Given the description of an element on the screen output the (x, y) to click on. 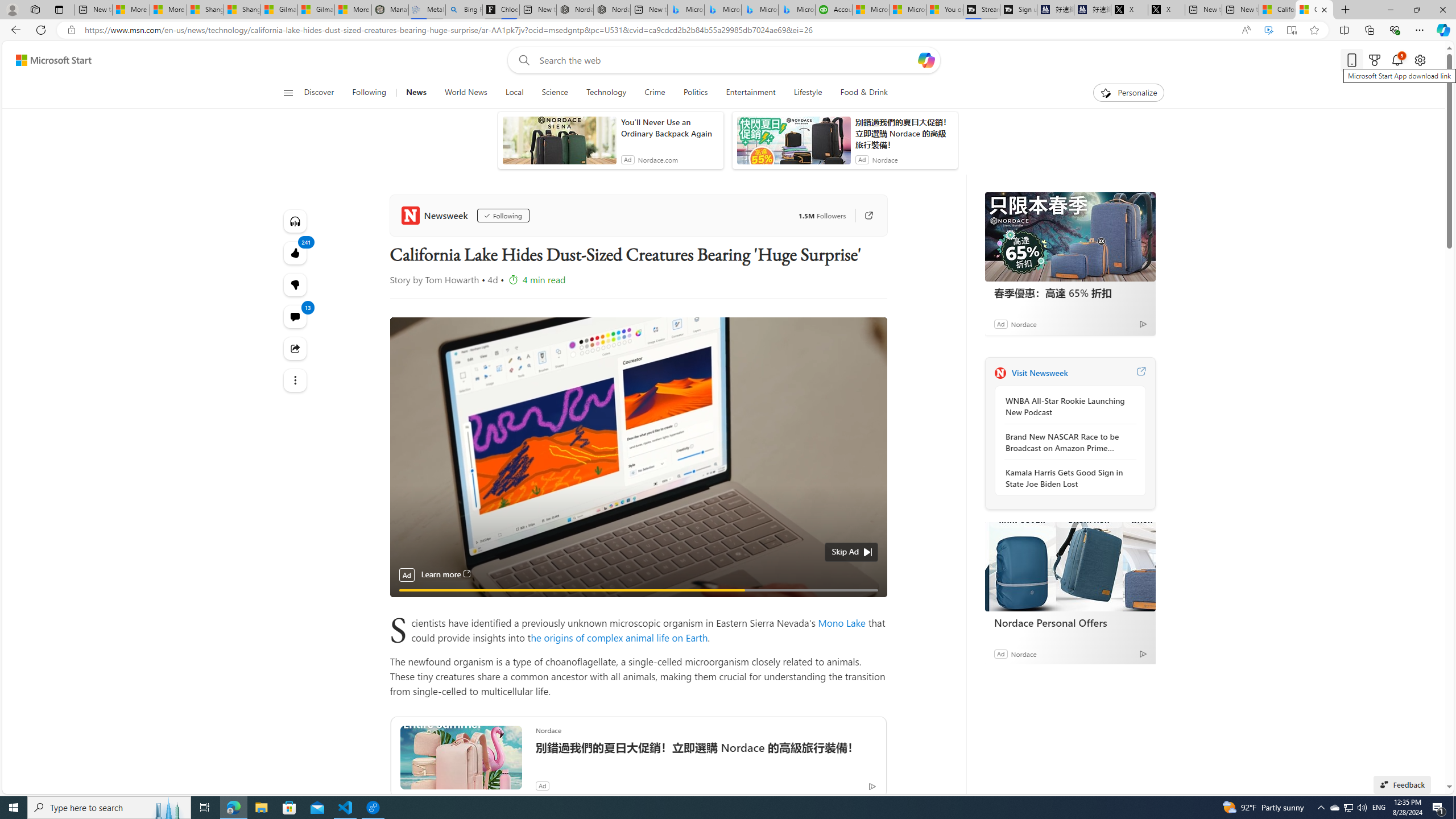
Listen to this article (295, 220)
Nordace.com (657, 159)
Bing Real Estate - Home sales and rental listings (464, 9)
Kamala Harris Gets Good Sign in State Joe Biden Lost (1066, 477)
Science (554, 92)
Enter your search term (726, 59)
Technology (606, 92)
